Given the description of an element on the screen output the (x, y) to click on. 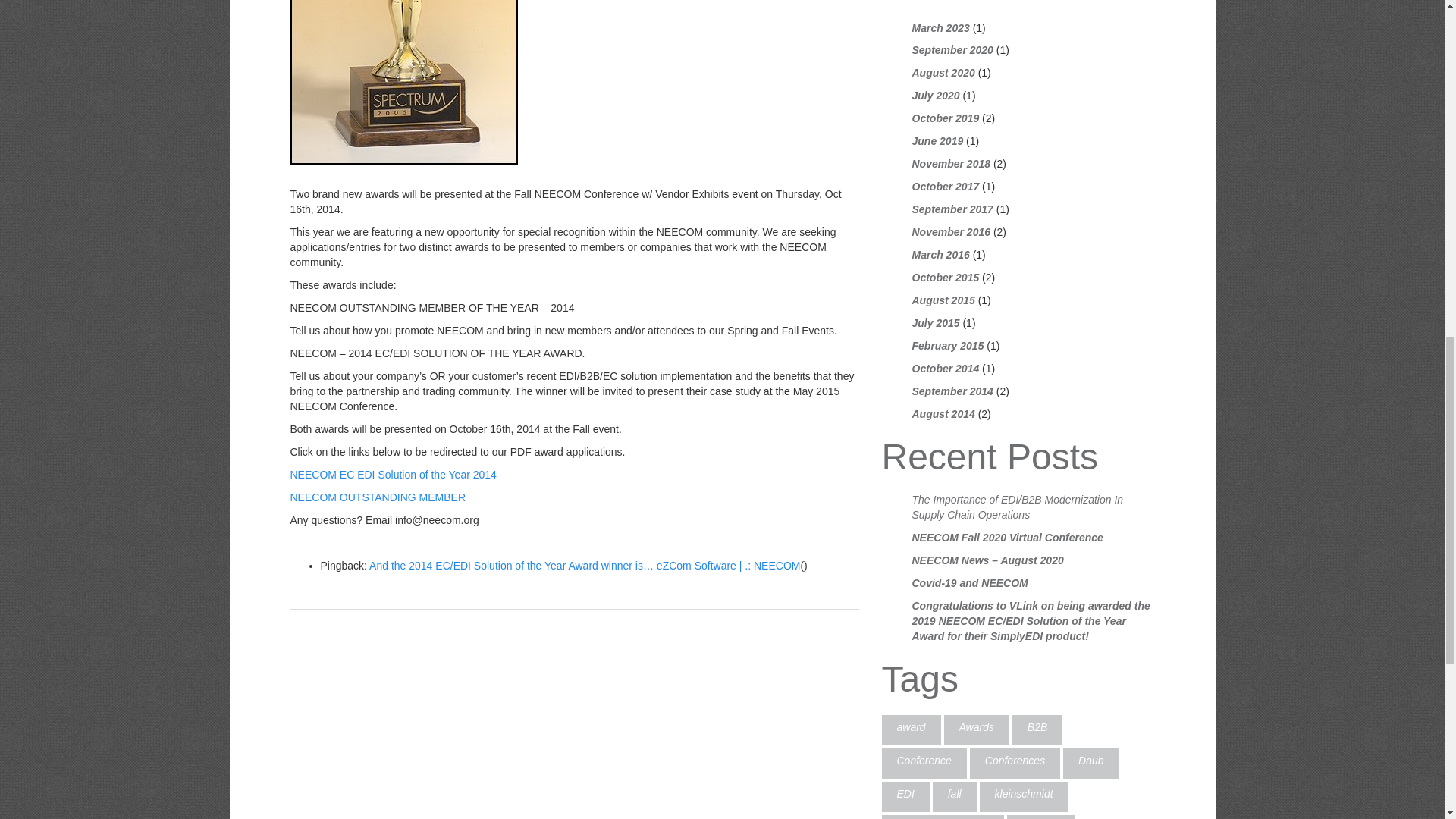
NEECOM OUTSTANDING MEMBER (377, 497)
NEECOM EC EDI Solution of the Year 2014 (392, 474)
